Given the description of an element on the screen output the (x, y) to click on. 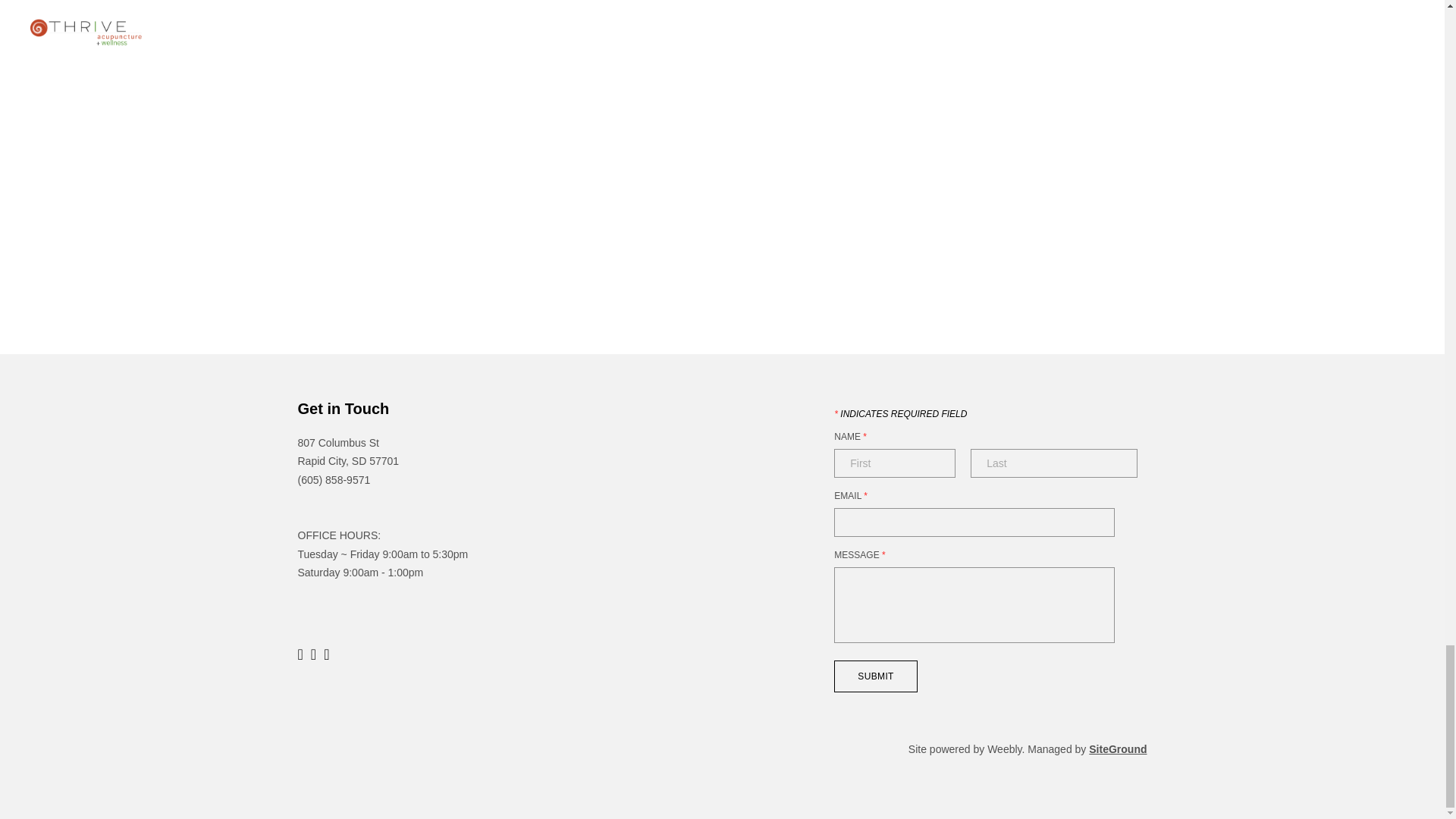
SiteGround (1118, 748)
SUBMIT (875, 675)
